Given the description of an element on the screen output the (x, y) to click on. 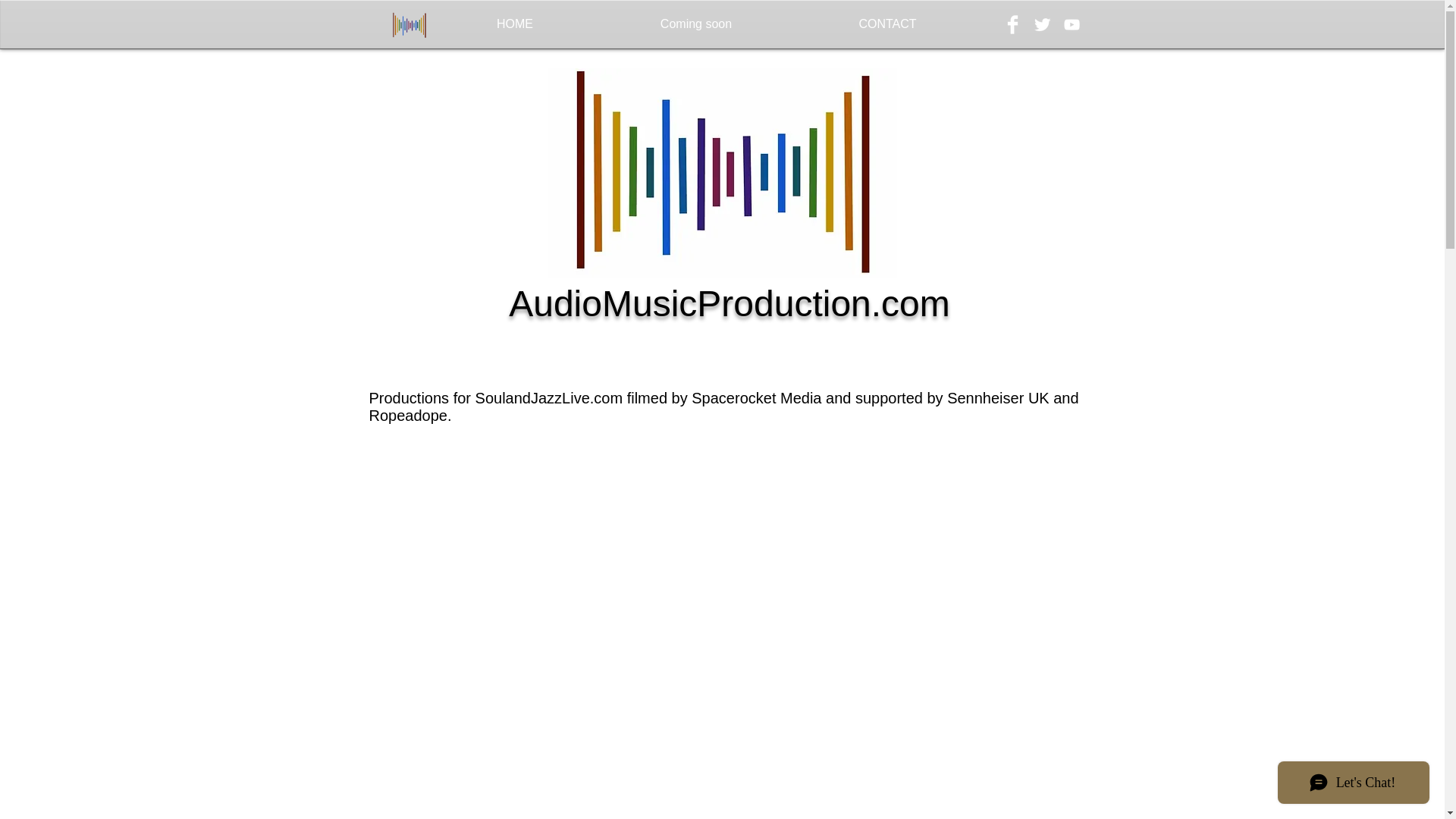
CONTACT (887, 23)
External YouTube (728, 727)
External YouTube (728, 537)
External YouTube (962, 727)
Coming soon (694, 23)
External YouTube (962, 537)
External YouTube (496, 537)
HOME (514, 23)
